Given the description of an element on the screen output the (x, y) to click on. 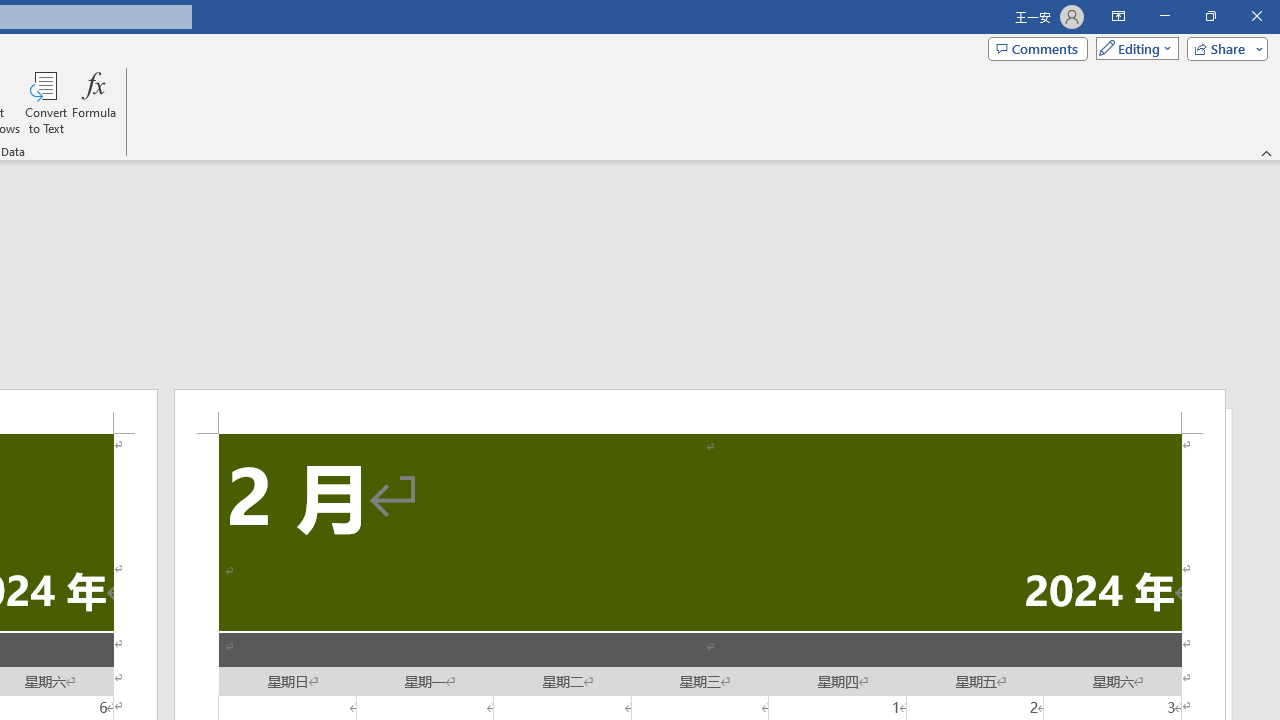
Convert to Text... (46, 102)
Formula... (94, 102)
Header -Section 2- (700, 411)
